Given the description of an element on the screen output the (x, y) to click on. 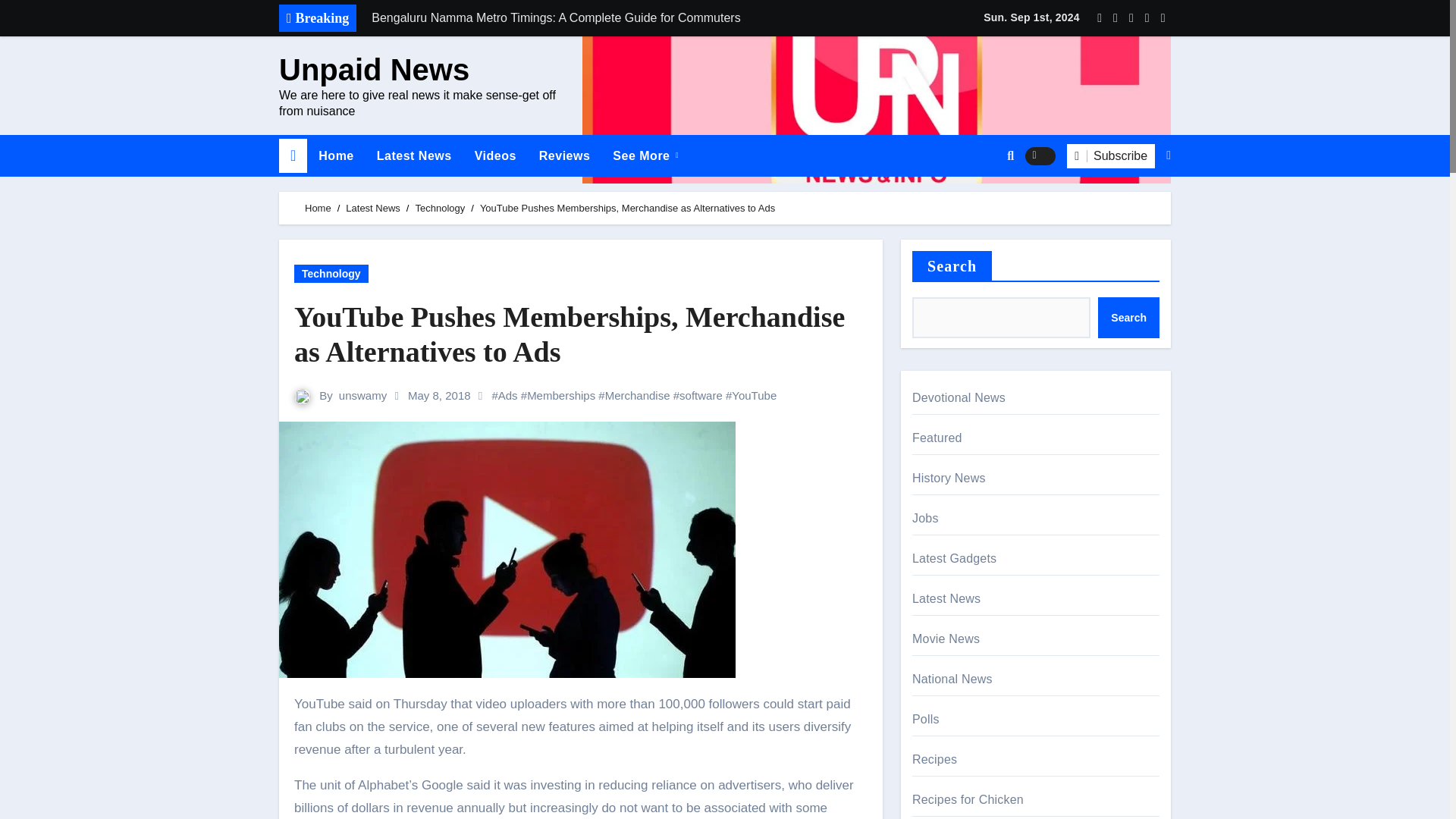
Latest News (414, 155)
Technology (331, 273)
Home (336, 155)
See More (645, 155)
Reviews (564, 155)
Technology (439, 207)
Videos (495, 155)
Home (317, 207)
Videos (495, 155)
Latest News (414, 155)
